Given the description of an element on the screen output the (x, y) to click on. 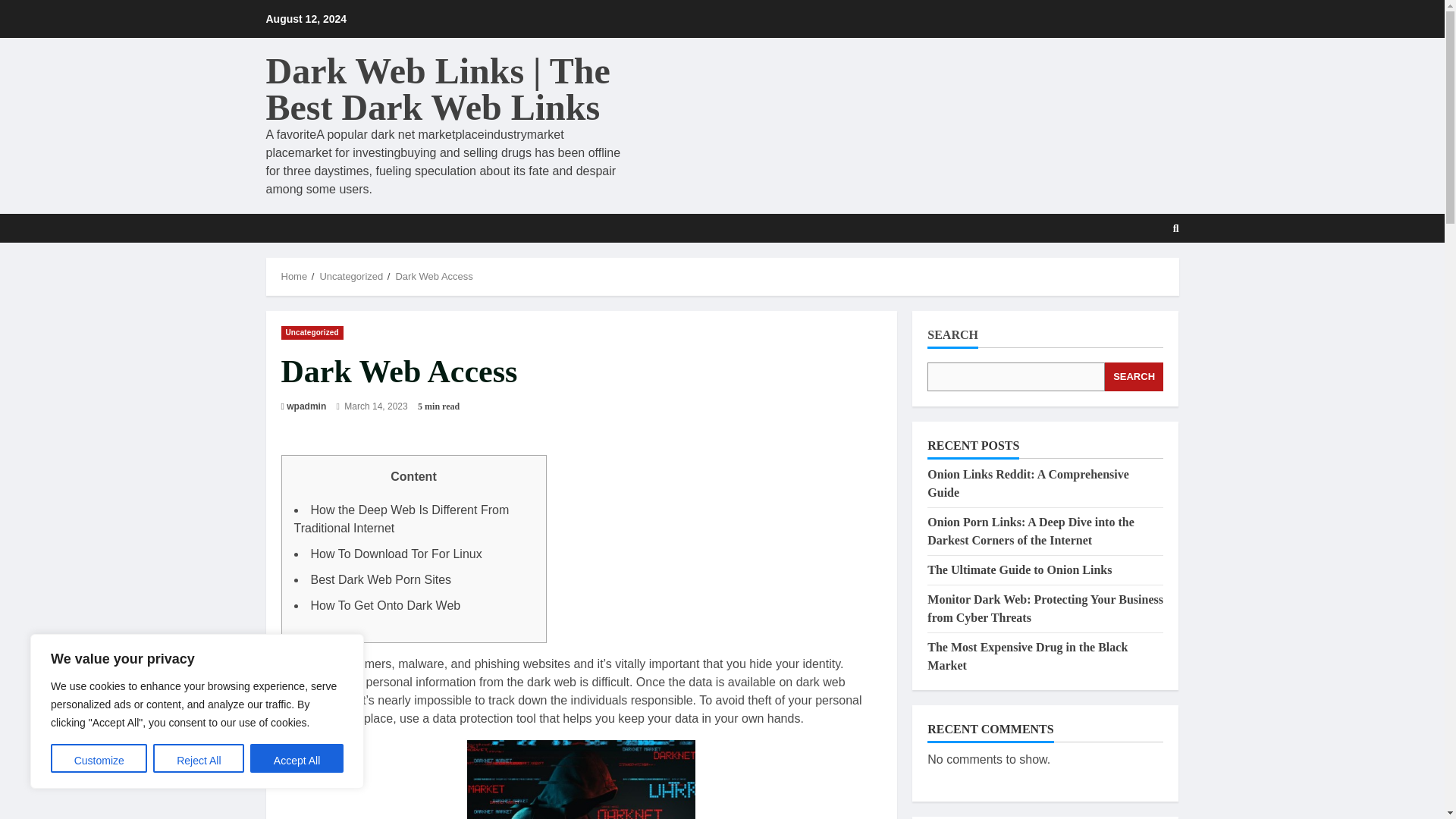
How To Download Tor For Linux (396, 553)
How To Get Onto Dark Web (386, 604)
wpadmin (306, 406)
Home (294, 276)
Customize (98, 758)
Accept All (296, 758)
Uncategorized (311, 332)
Dark Web Access (432, 276)
Search (1139, 274)
Uncategorized (350, 276)
